Given the description of an element on the screen output the (x, y) to click on. 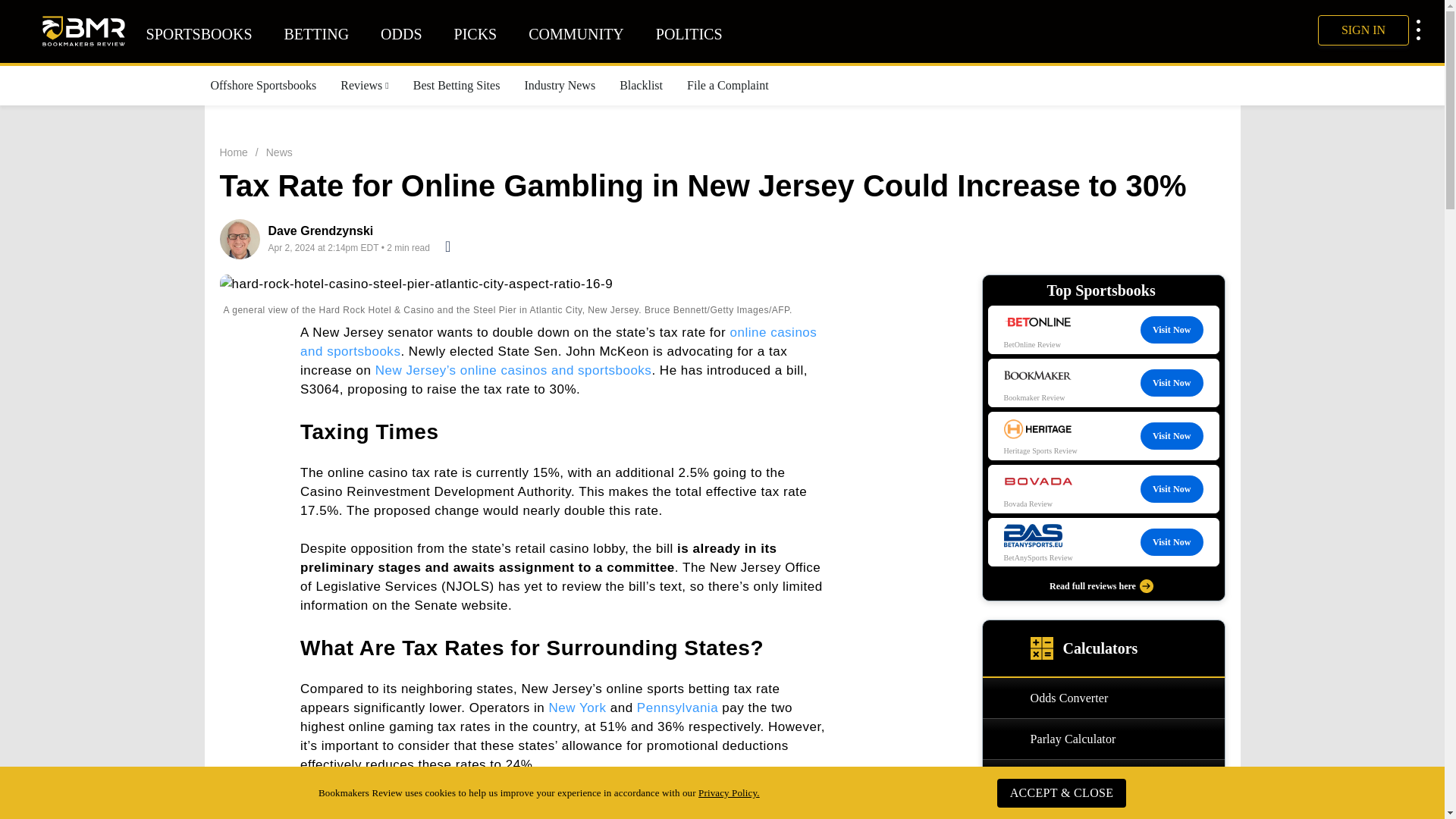
Dave Grendzynski (320, 230)
Kansas (322, 816)
Michigan (775, 802)
New York (577, 707)
Offshore Sportsbooks (264, 85)
COMMUNITY (576, 33)
SPORTSBOOKS (199, 33)
ODDS (401, 33)
Best Betting Sites (456, 85)
POLITICS (689, 33)
